Given the description of an element on the screen output the (x, y) to click on. 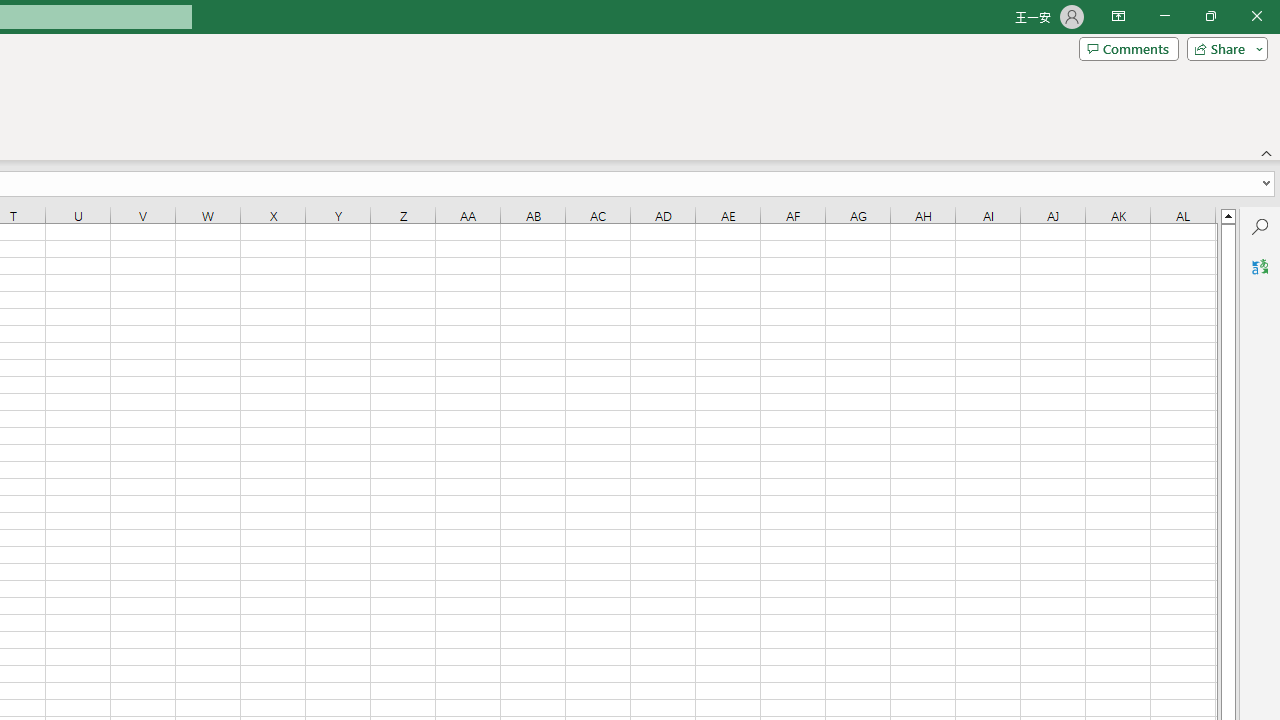
Line up (1227, 215)
Share (1223, 48)
Collapse the Ribbon (1267, 152)
Ribbon Display Options (1118, 16)
Restore Down (1210, 16)
Search (1260, 226)
Comments (1128, 48)
Close (1256, 16)
Translator (1260, 266)
Minimize (1164, 16)
